Given the description of an element on the screen output the (x, y) to click on. 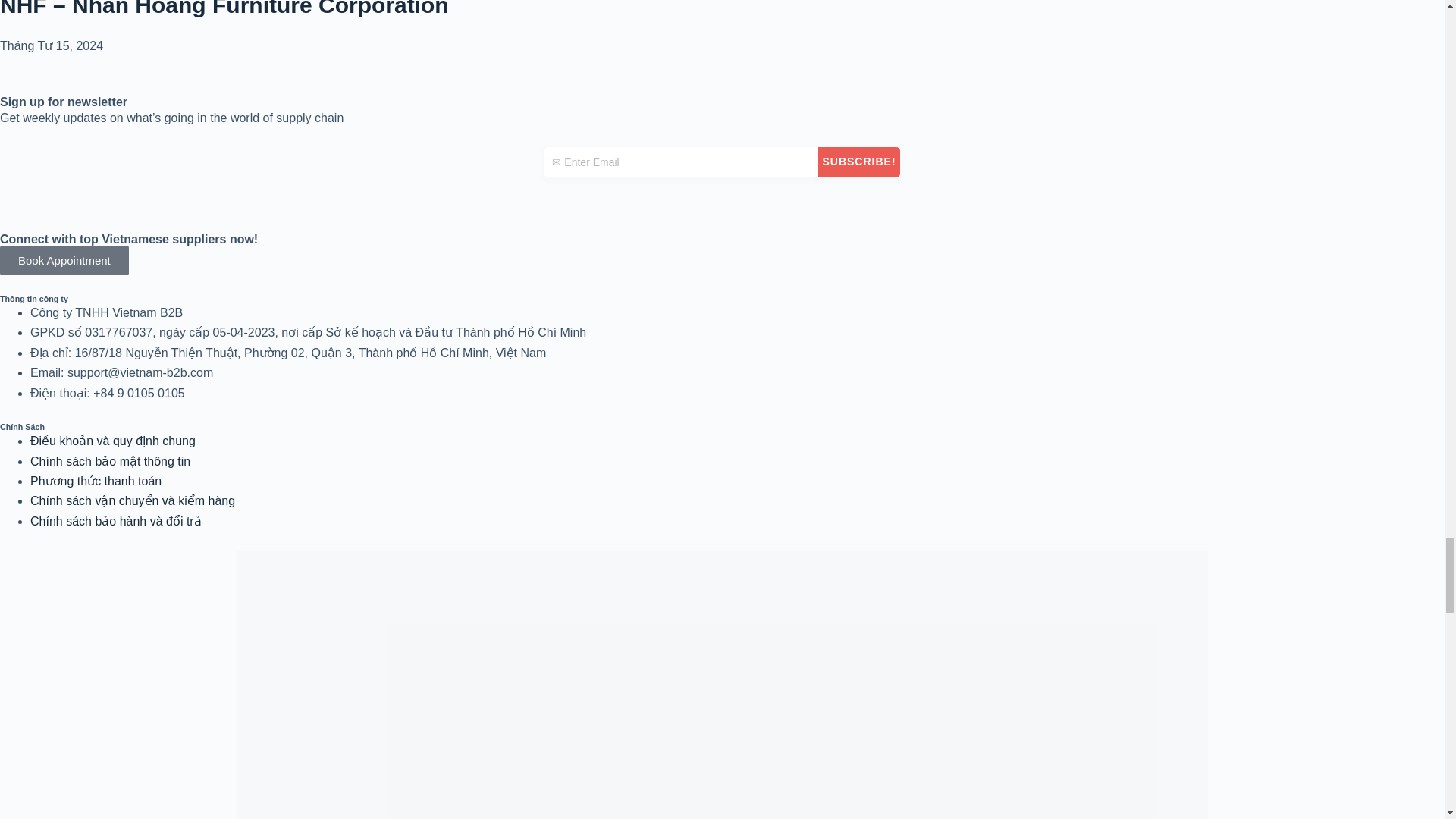
Subscribe! (858, 162)
